Given the description of an element on the screen output the (x, y) to click on. 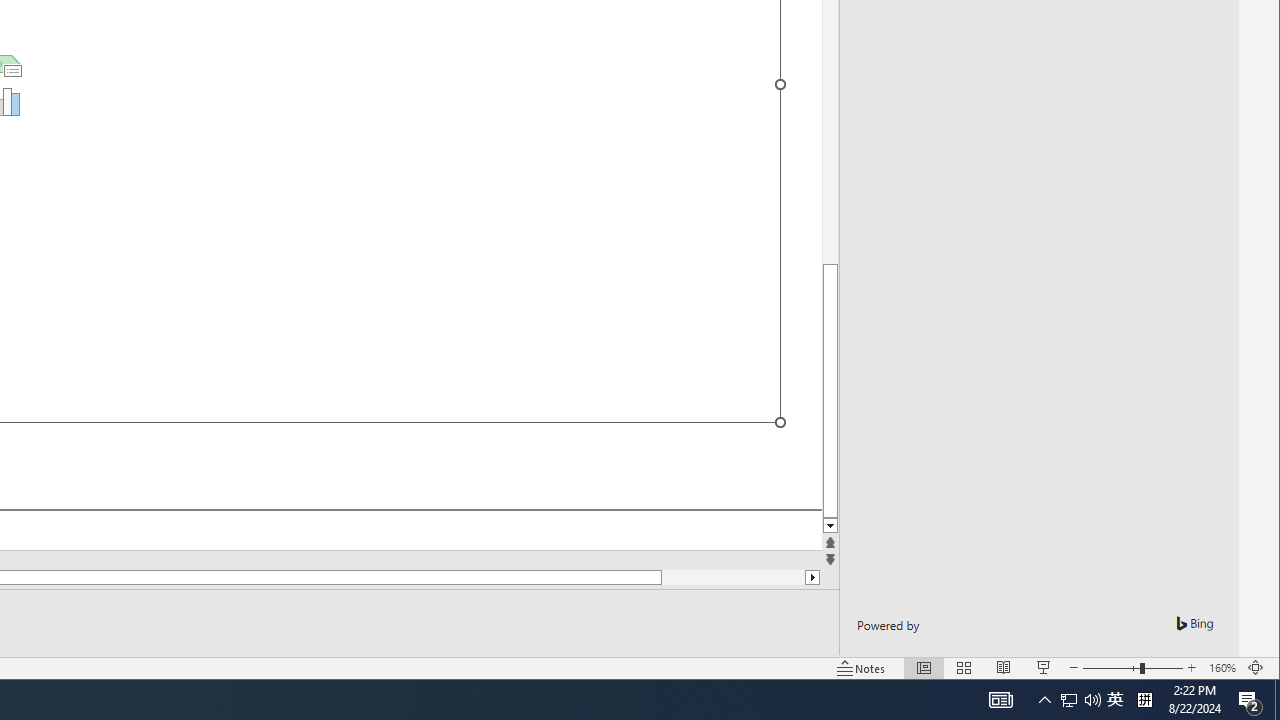
Zoom 160% (1222, 668)
